Given the description of an element on the screen output the (x, y) to click on. 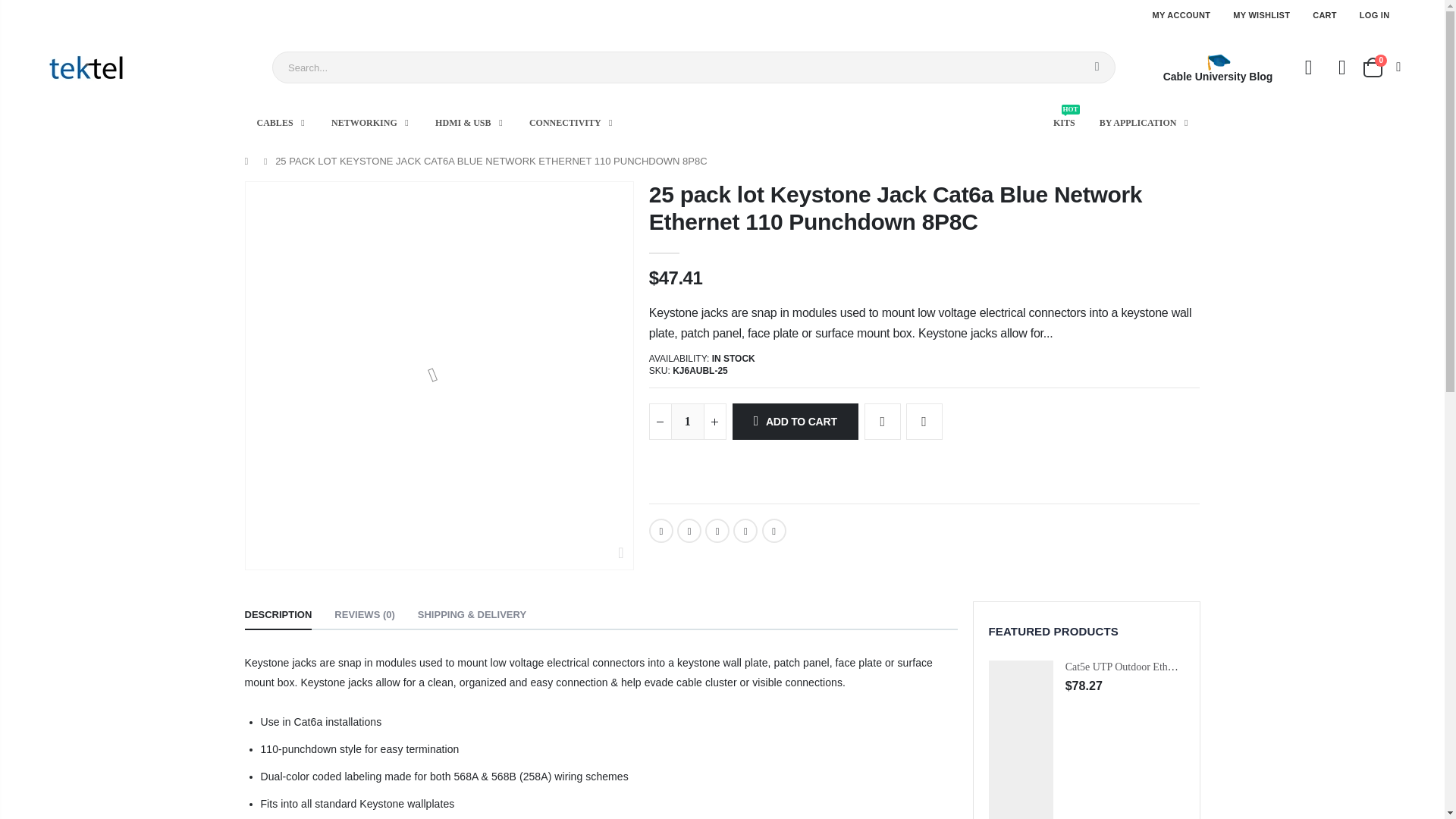
Add to wishlist (882, 421)
0 (1380, 66)
NETWORKING (369, 122)
MY WISHLIST (1261, 14)
Add to compare (923, 421)
LOG IN (1374, 14)
